Given the description of an element on the screen output the (x, y) to click on. 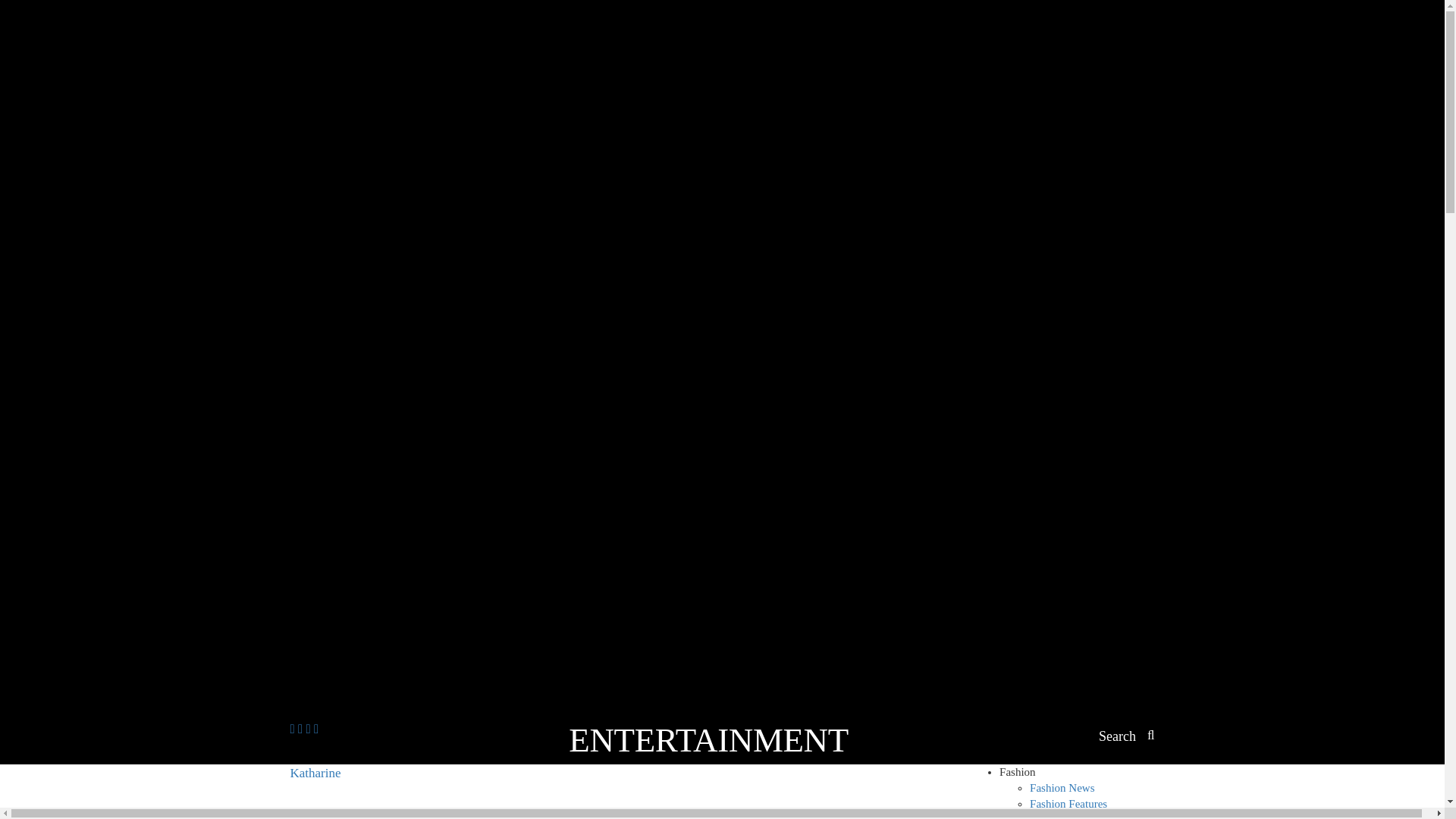
iFashion Network (342, 791)
Fashion (1016, 771)
Fashion News (1061, 787)
Search (1126, 737)
Fashion Features (1067, 803)
Katharine (342, 791)
